Given the description of an element on the screen output the (x, y) to click on. 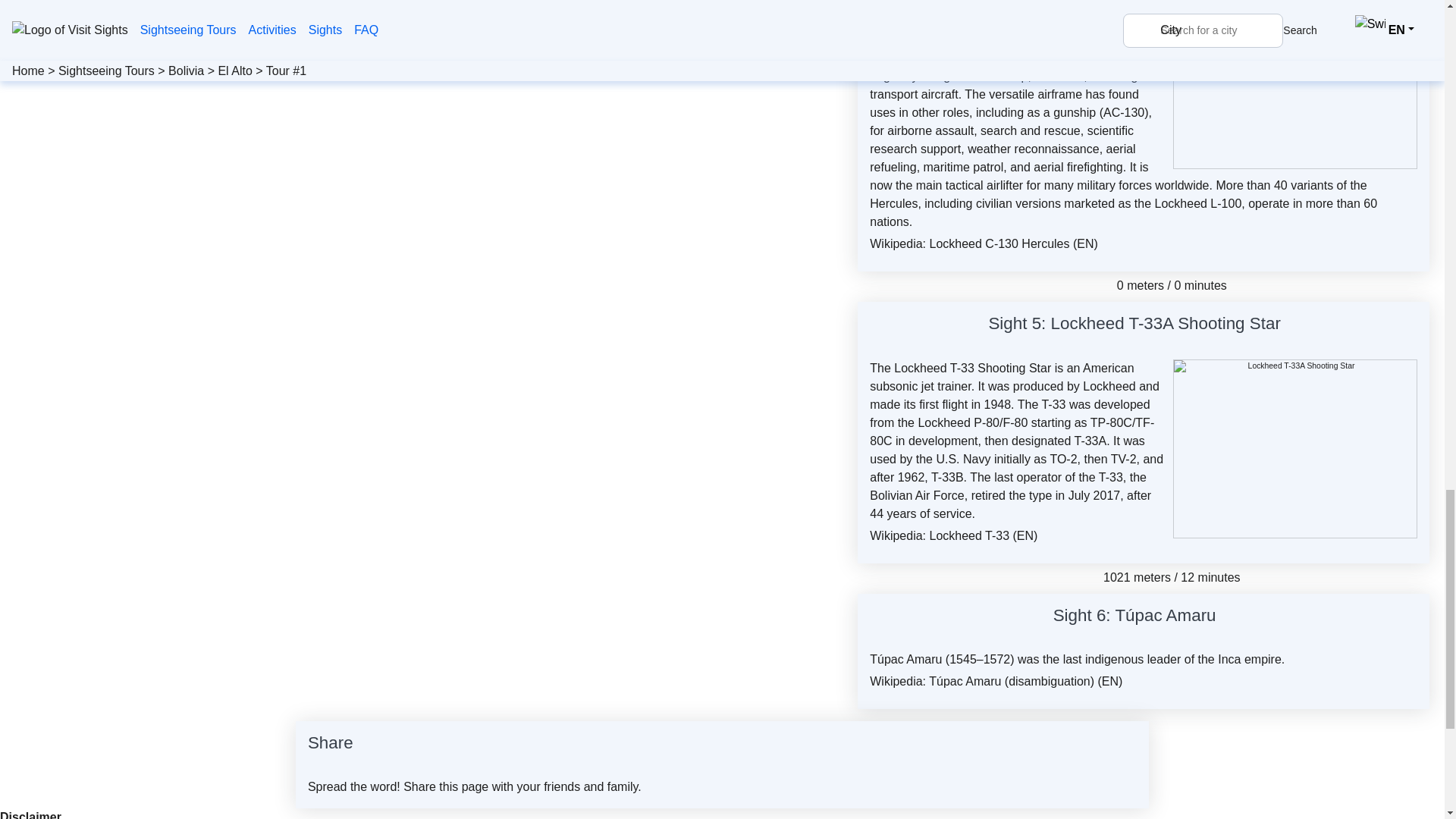
Show sight on map (1289, 325)
